Given the description of an element on the screen output the (x, y) to click on. 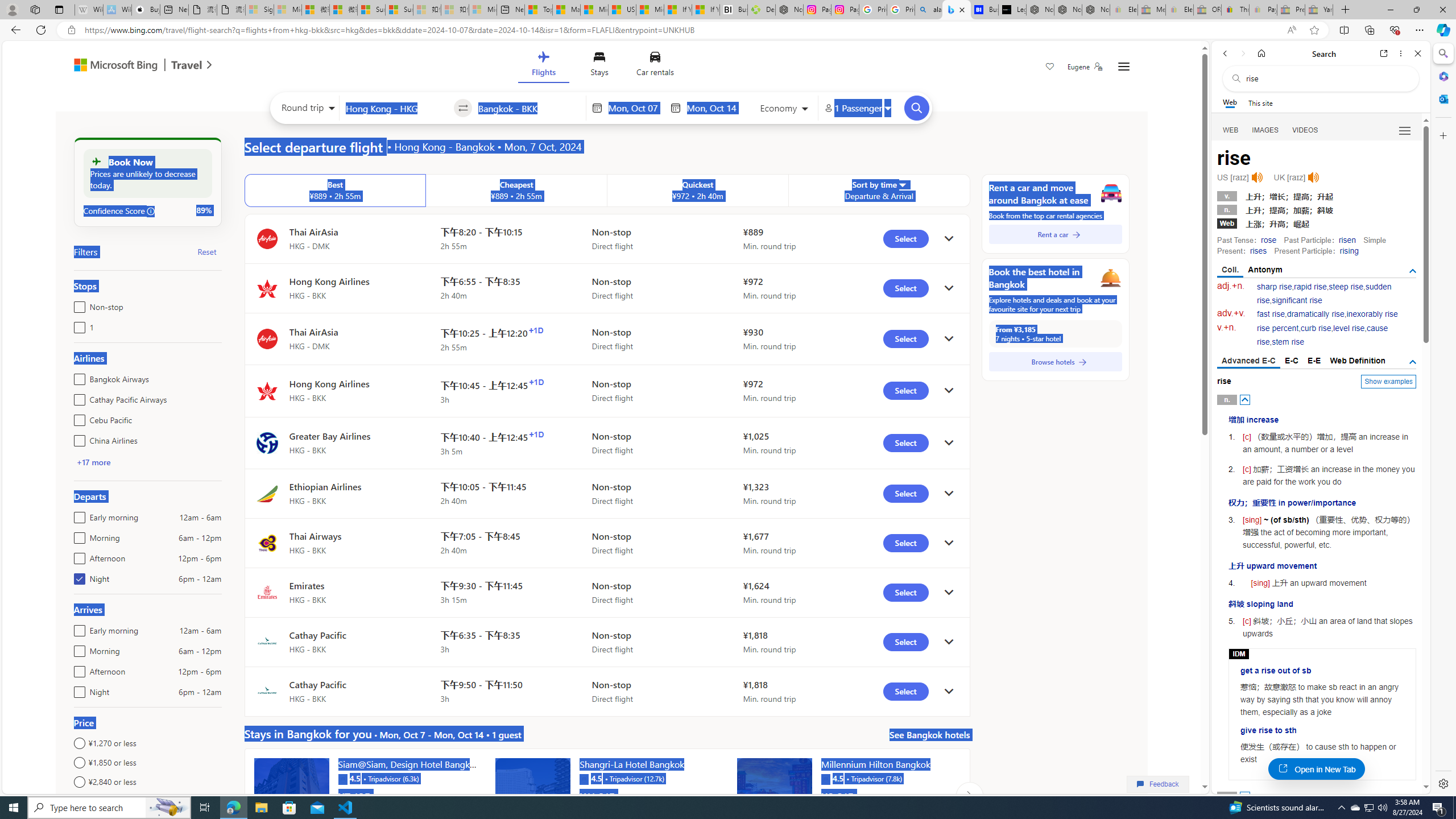
1 (76, 325)
Click to listen (1313, 177)
Save (1049, 67)
Top Stories - MSN (538, 9)
US Heat Deaths Soared To Record High Last Year (621, 9)
Cebu Pacific (76, 417)
Web Definition (1357, 360)
